Given the description of an element on the screen output the (x, y) to click on. 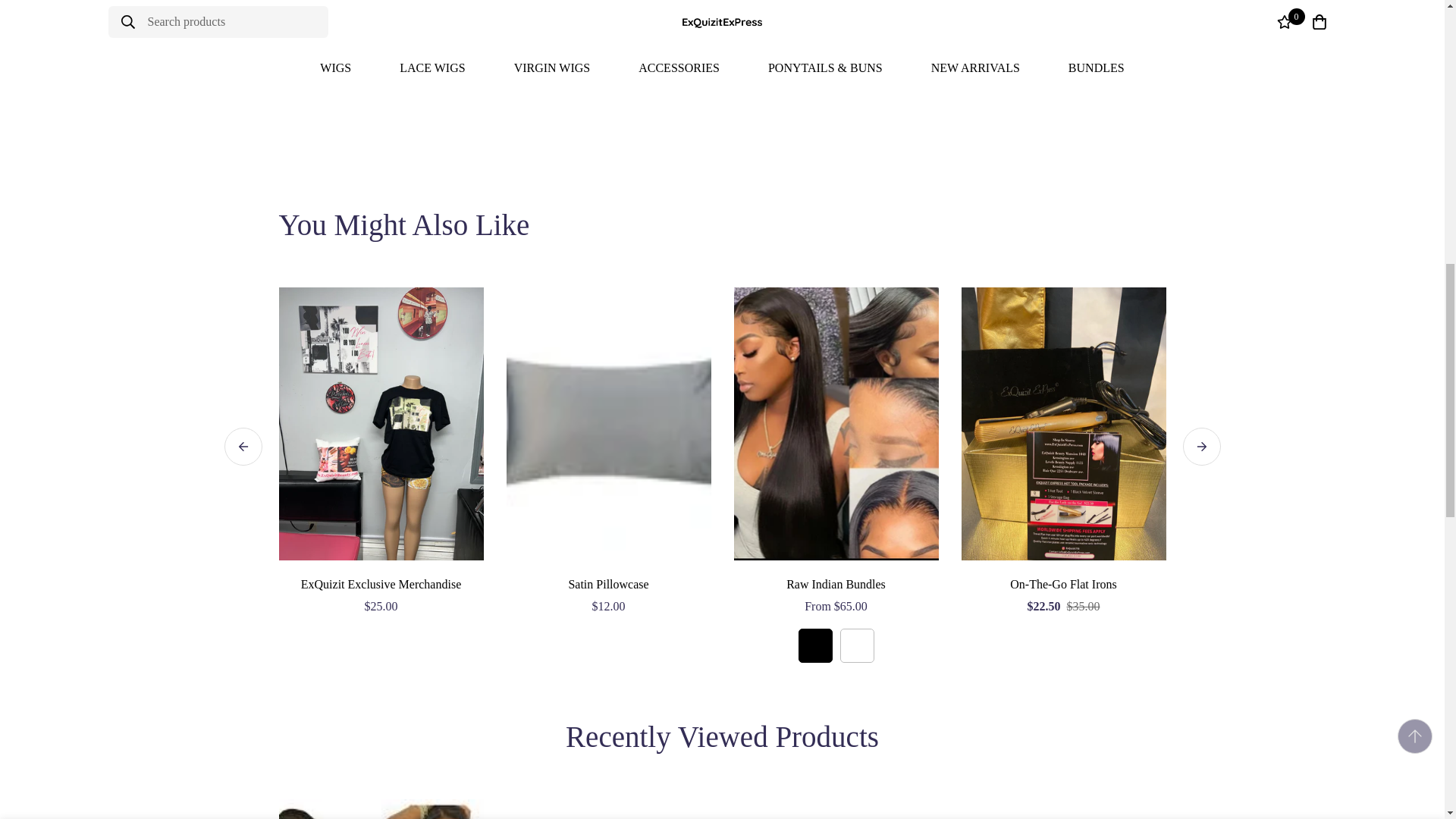
Buffalo Beauty Salon (504, 26)
1 (977, 28)
